Given the description of an element on the screen output the (x, y) to click on. 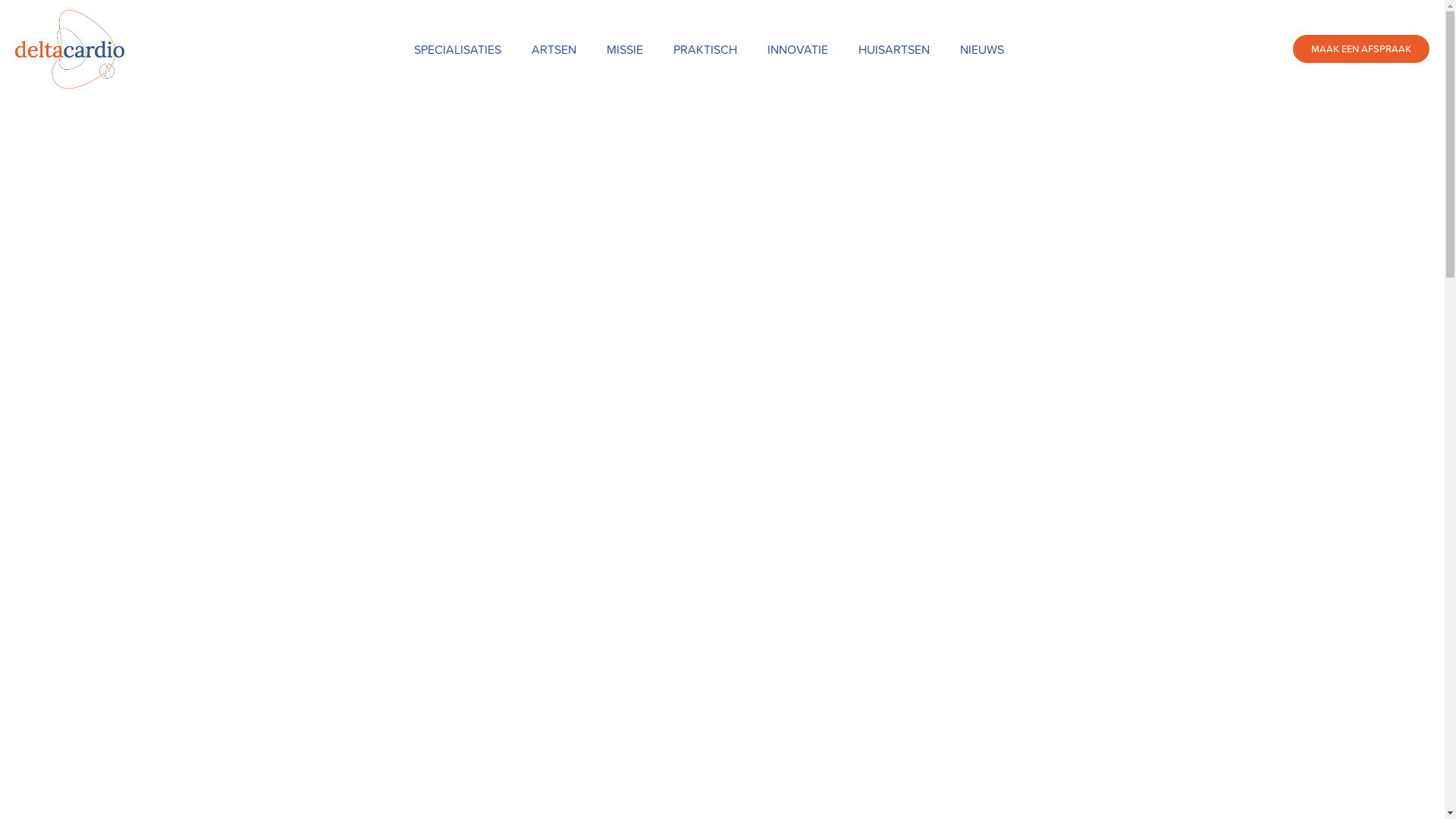
MISSIE Element type: text (624, 48)
PRAKTISCH Element type: text (705, 48)
MAAK EEN AFSPRAAK Element type: text (1360, 48)
SPECIALISATIES Element type: text (457, 48)
NIEUWS Element type: text (981, 48)
HUISARTSEN Element type: text (893, 48)
ARTSEN Element type: text (552, 48)
INNOVATIE Element type: text (797, 48)
